Given the description of an element on the screen output the (x, y) to click on. 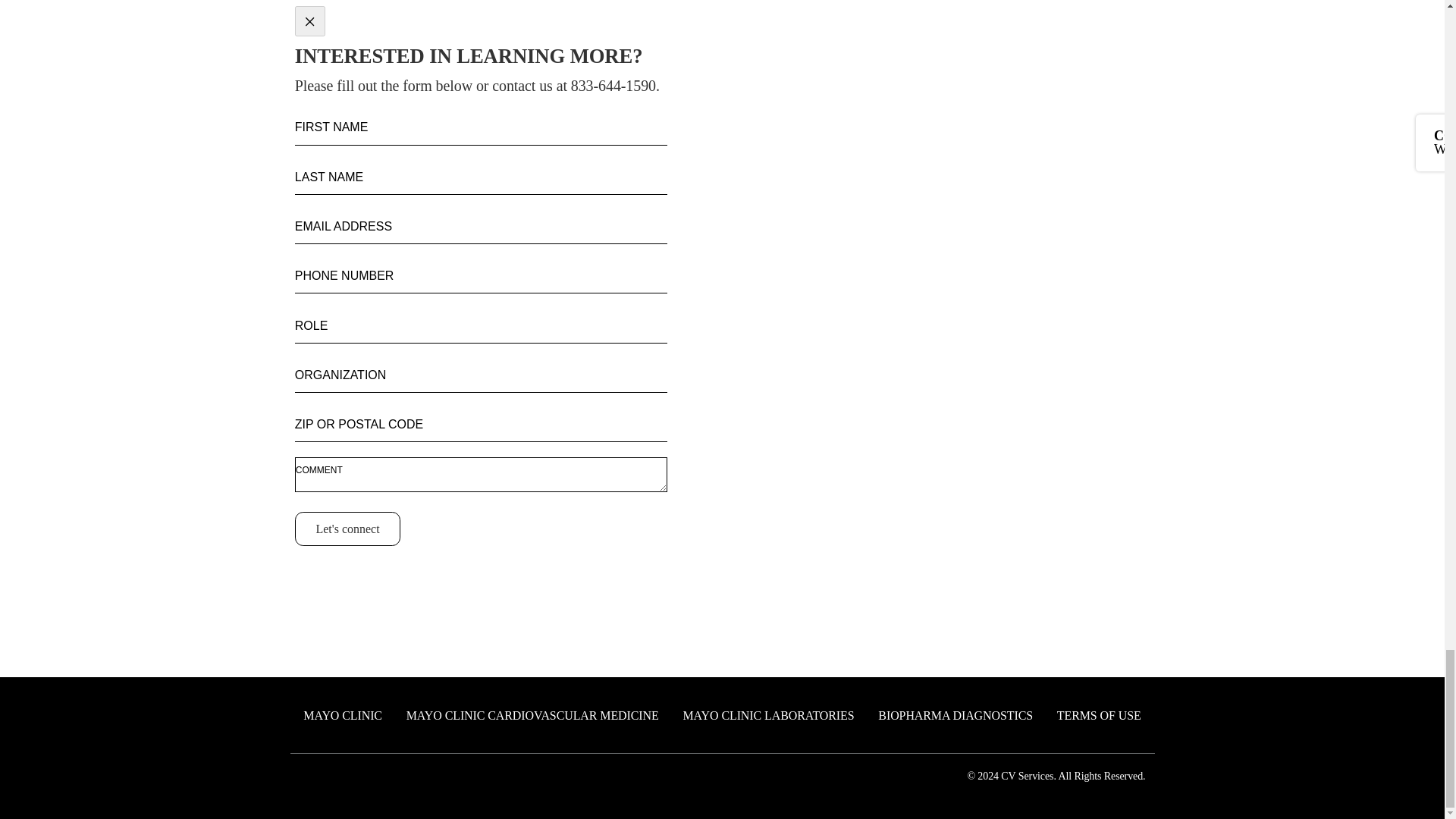
The Importance of ECG Interpretation in Medical Practice (1161, 194)
WPW Syndrome in Athletes (1161, 767)
ECG in Acute Cardial Ischemia (1161, 630)
Let's connect (347, 528)
Clinical Perspectives on Adoption of AI-ECG (1161, 494)
